Given the description of an element on the screen output the (x, y) to click on. 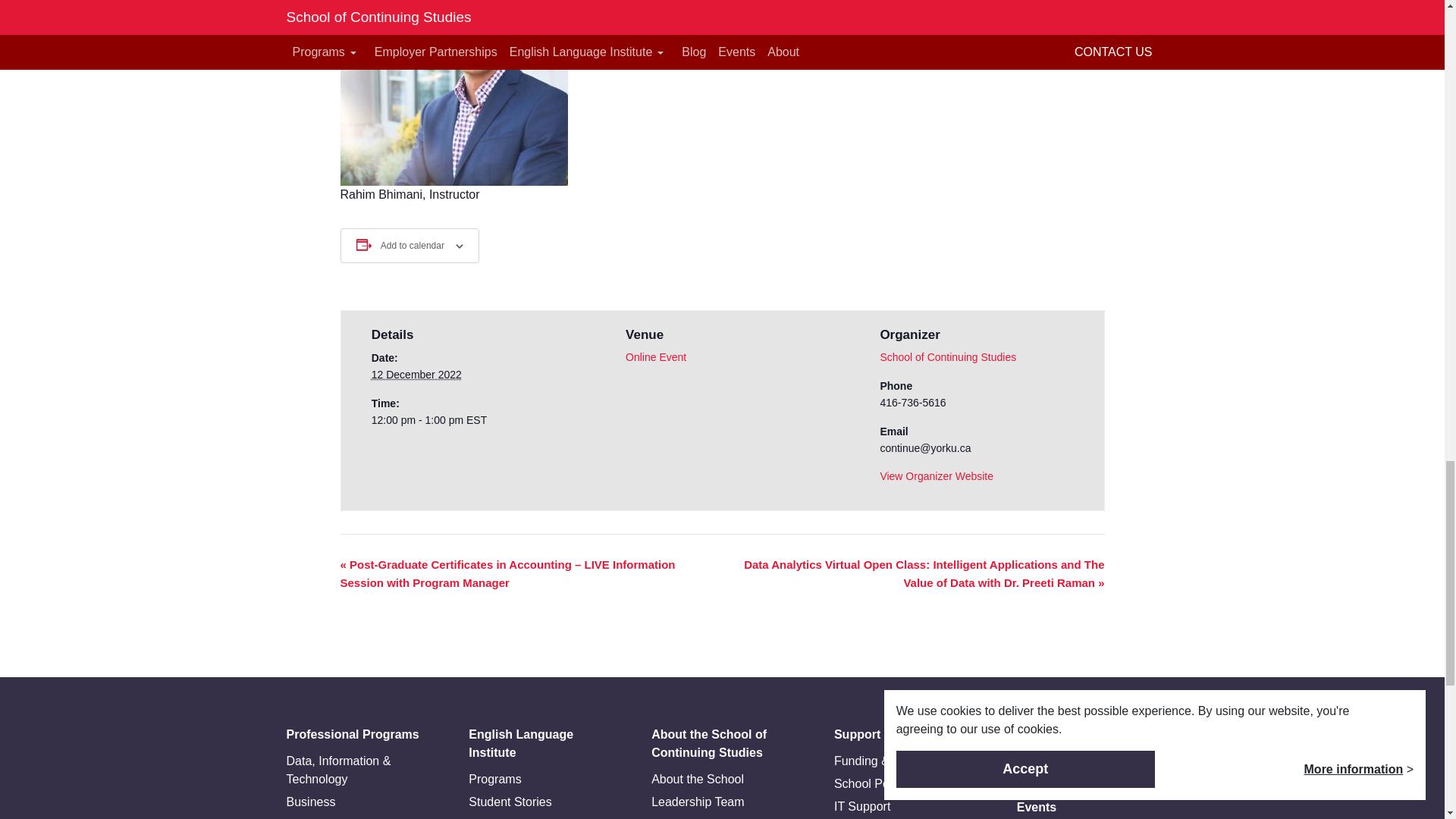
School of Continuing Studies (947, 357)
2022-12-12 (416, 374)
2022-12-12 (467, 420)
